Given the description of an element on the screen output the (x, y) to click on. 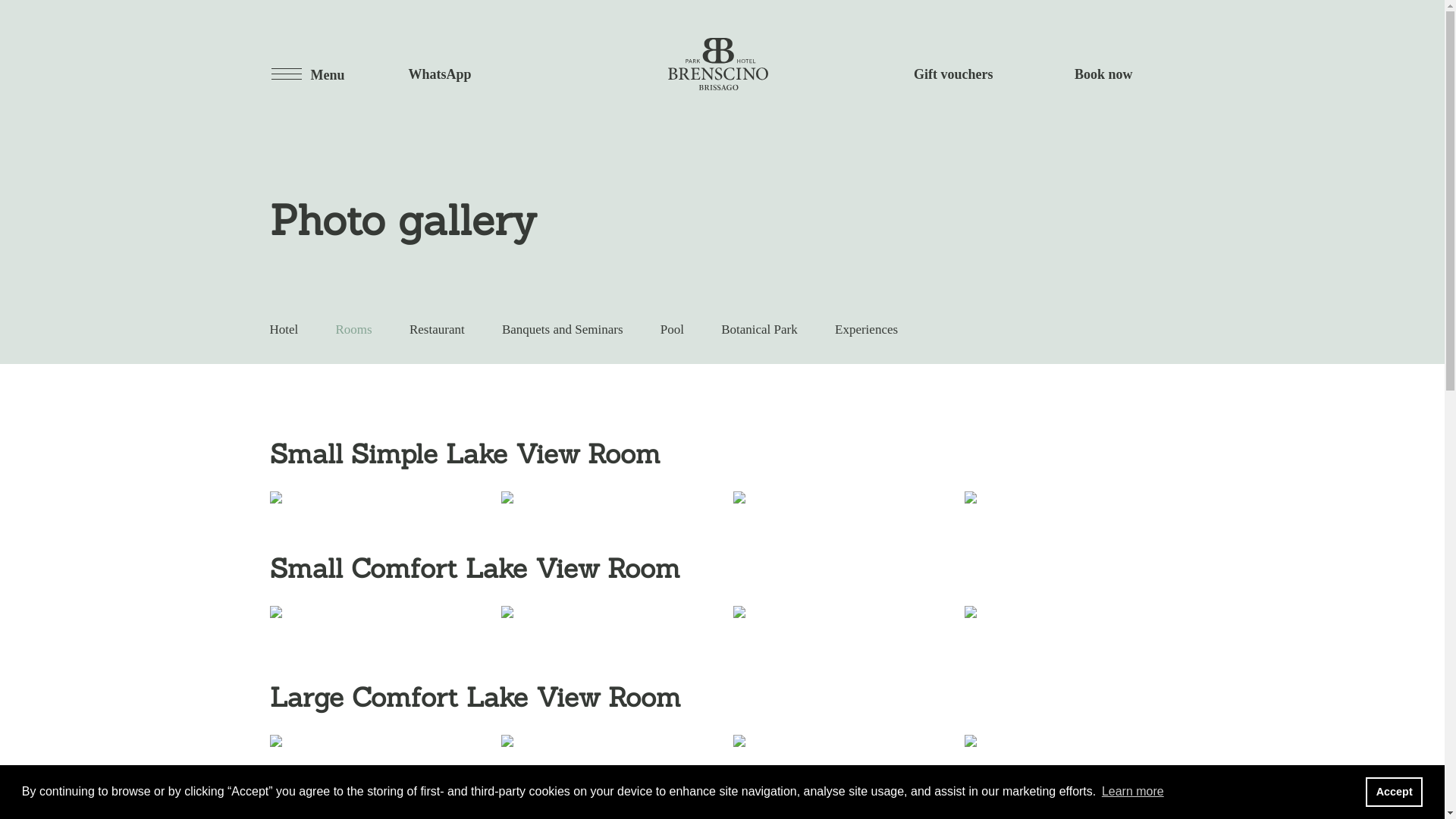
Restaurant Element type: text (436, 329)
Hotel Element type: text (283, 329)
Banquets and Seminars Element type: text (562, 329)
Pool Element type: text (672, 329)
| Parkhotel Brenscino, Brissago Element type: hover (718, 63)
Experiences Element type: text (865, 329)
  Gift vouchers Element type: text (958, 74)
Accept Element type: text (1393, 791)
Rooms Element type: text (353, 329)
  WhatsApp Element type: text (407, 74)
Learn more Element type: text (1132, 791)
Botanical Park Element type: text (759, 329)
